Given the description of an element on the screen output the (x, y) to click on. 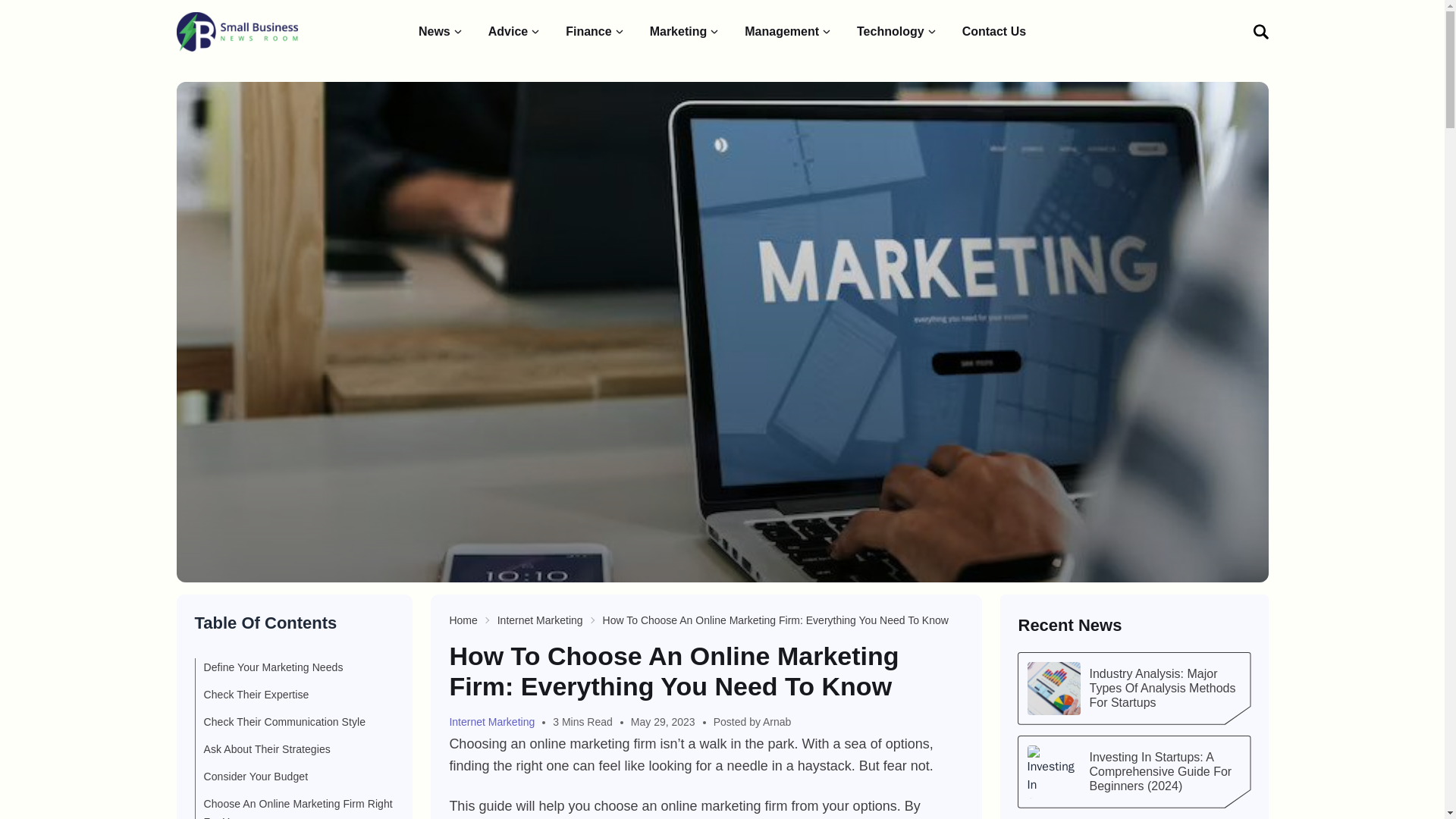
News (441, 31)
Advice (514, 31)
Finance (595, 31)
Internet Marketing (496, 722)
Management (788, 31)
Marketing (684, 31)
Contact Us (994, 31)
Internet Marketing (540, 620)
Technology (897, 31)
Subscribe (1195, 227)
